Given the description of an element on the screen output the (x, y) to click on. 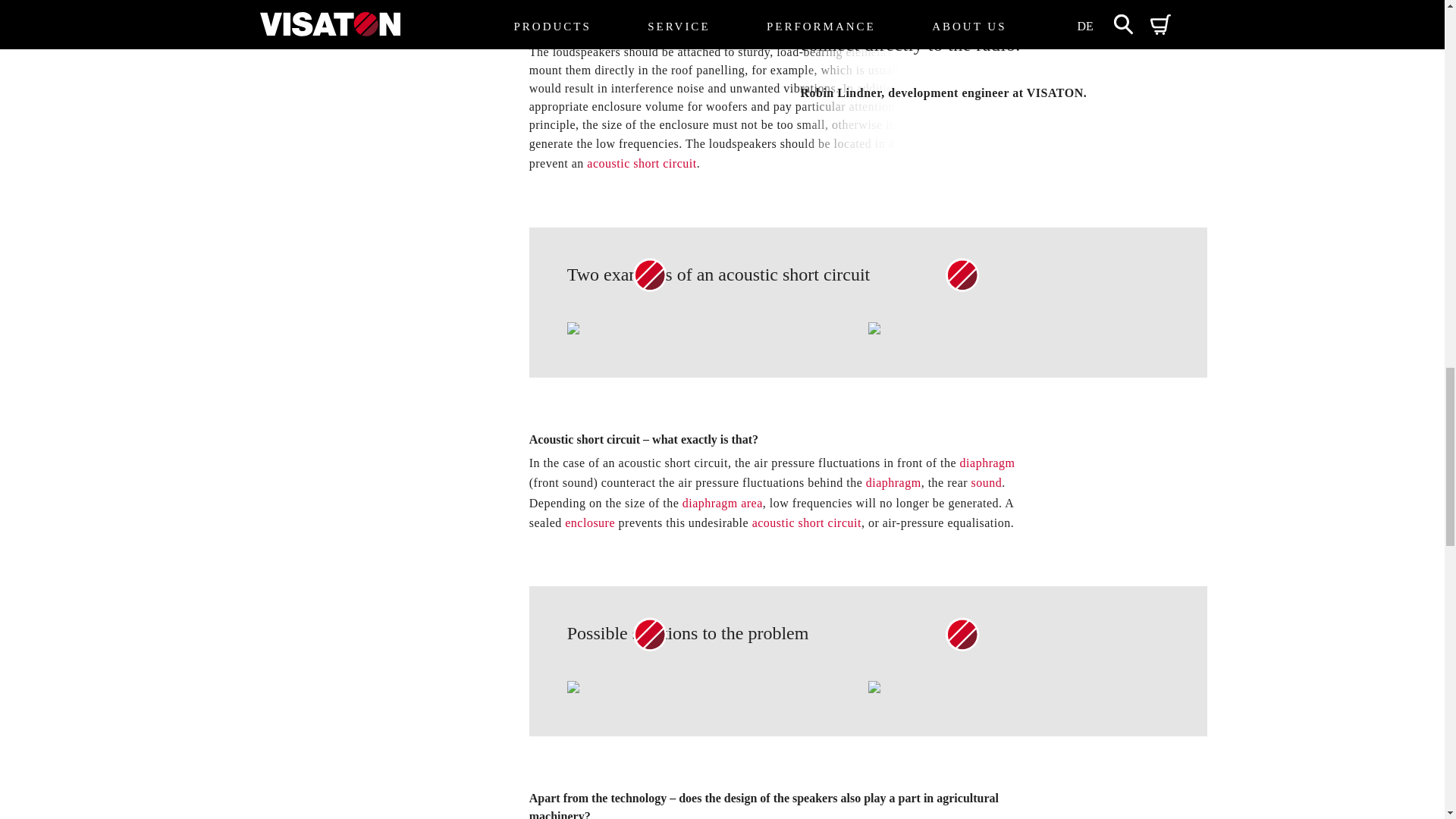
diaphragm (986, 462)
diaphragm area (722, 502)
acoustic short circuit (806, 522)
enclosure (958, 143)
enclosure (589, 522)
sound (987, 481)
acoustic short circuit (640, 163)
diaphragm (893, 481)
